Given the description of an element on the screen output the (x, y) to click on. 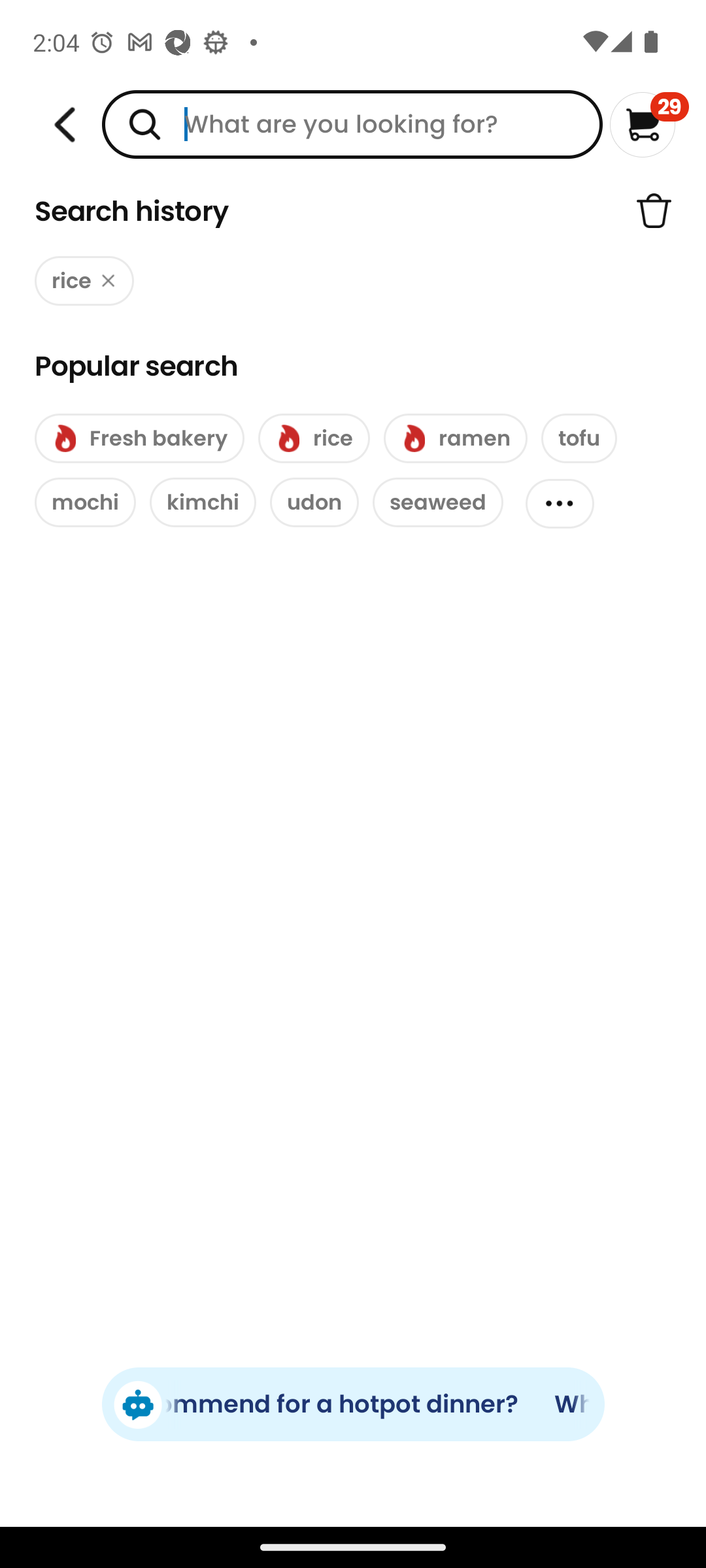
What are you looking for? (351, 124)
29 (649, 124)
rice (84, 280)
Fresh bakery (139, 437)
rice (313, 437)
ramen (455, 437)
tofu (579, 437)
mochi (85, 502)
kimchi (202, 502)
udon (313, 502)
seaweed (437, 502)
